Given the description of an element on the screen output the (x, y) to click on. 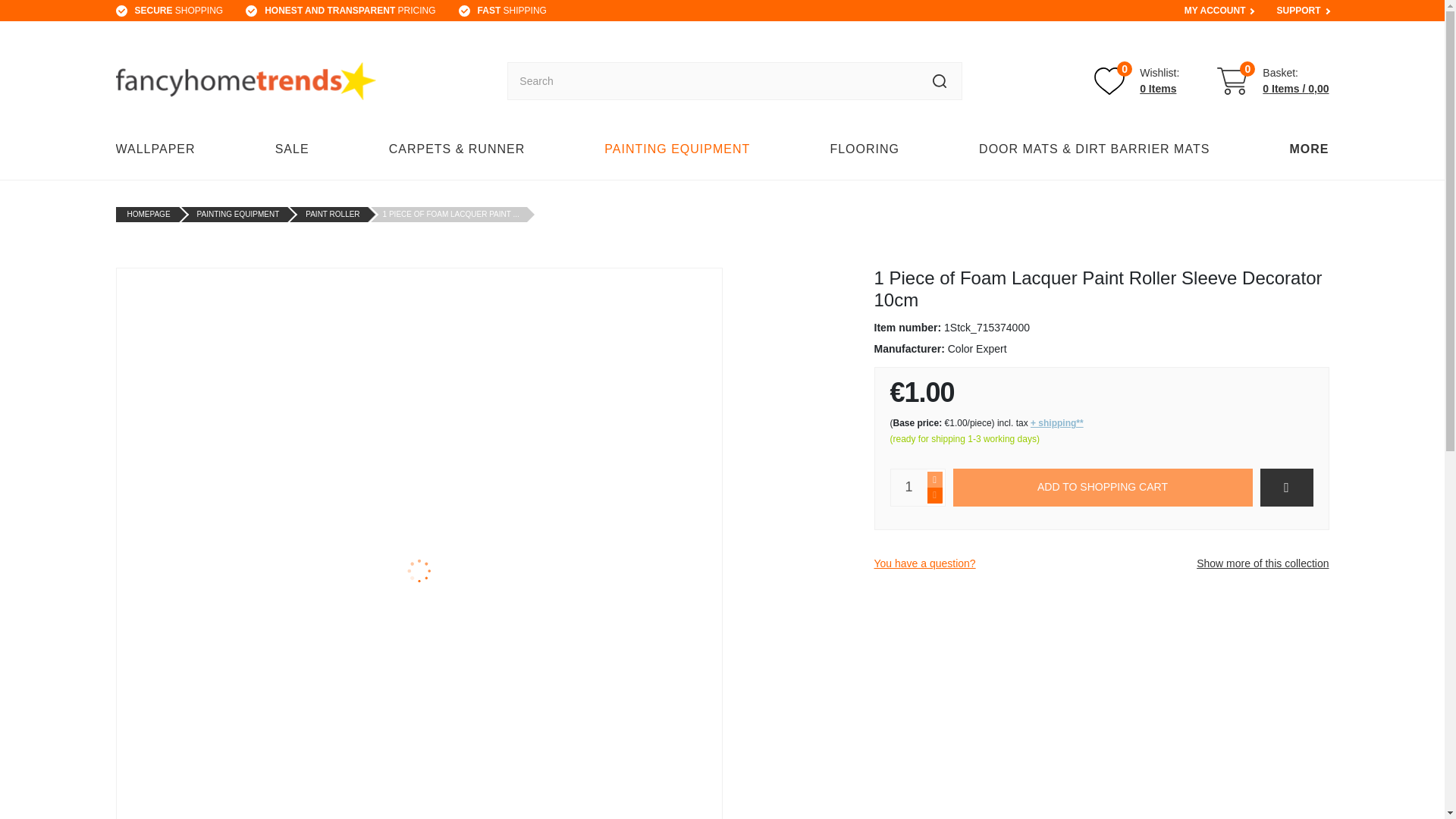
PAINT ROLLER (332, 214)
FAST SHIPPING (512, 10)
FLOORING (864, 148)
PAINTING EQUIPMENT (676, 148)
MY ACCOUNT (1215, 10)
WALLPAPER (159, 148)
SUPPORT (1298, 10)
ADD TO SHOPPING CART (1102, 487)
1 (907, 487)
HOMEPAGE (149, 214)
You have a question? (924, 563)
Show more of this collection (1261, 563)
PAINTING EQUIPMENT (1136, 81)
